Given the description of an element on the screen output the (x, y) to click on. 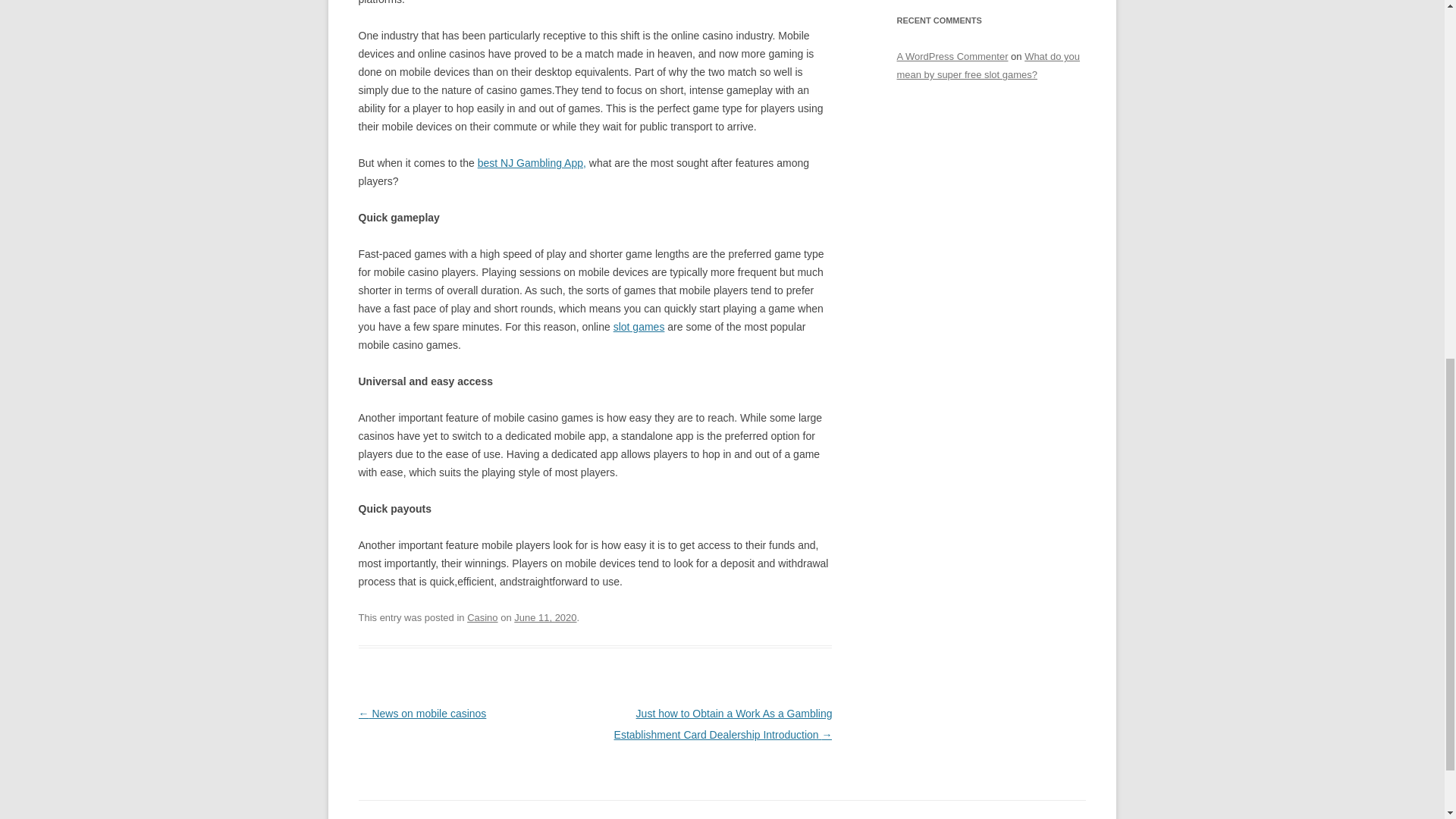
June 11, 2020 (544, 617)
A WordPress Commenter (951, 56)
What do you mean by super free slot games? (988, 65)
best NJ Gambling App, (531, 162)
slot games (638, 326)
6:36 am (544, 617)
Casino (482, 617)
